Given the description of an element on the screen output the (x, y) to click on. 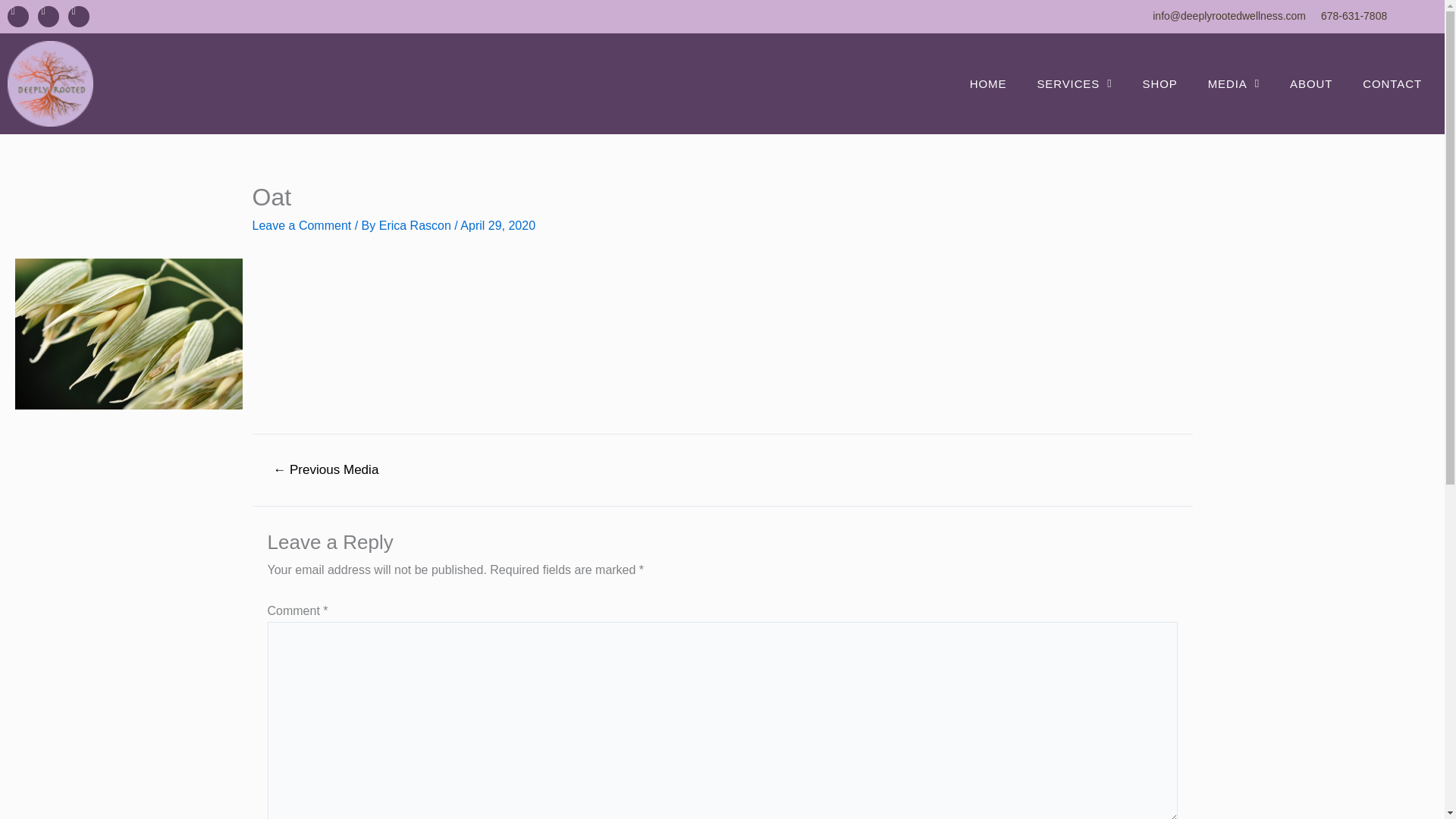
CONTACT (1392, 83)
cropped-deeplyrootedwellness-logo.png (50, 83)
678-631-7808 (1375, 16)
SHOP (1159, 83)
View all posts by Erica Rascon (416, 225)
MEDIA (1233, 83)
SERVICES (1074, 83)
Facebook (18, 16)
Youtube (78, 16)
HOME (988, 83)
Instagram (48, 16)
ABOUT (1311, 83)
